Given the description of an element on the screen output the (x, y) to click on. 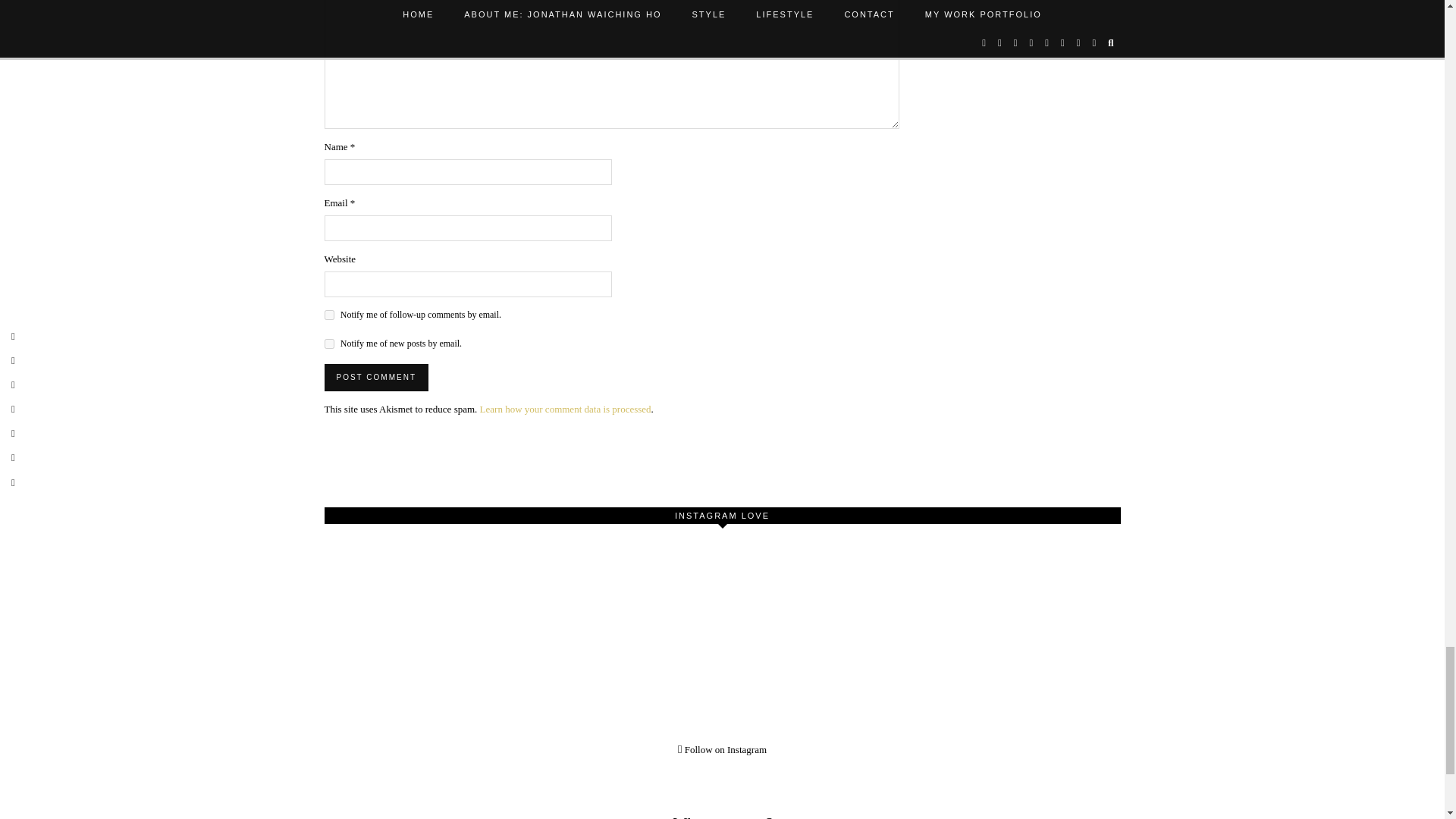
subscribe (329, 343)
Post Comment (376, 377)
subscribe (329, 315)
